Given the description of an element on the screen output the (x, y) to click on. 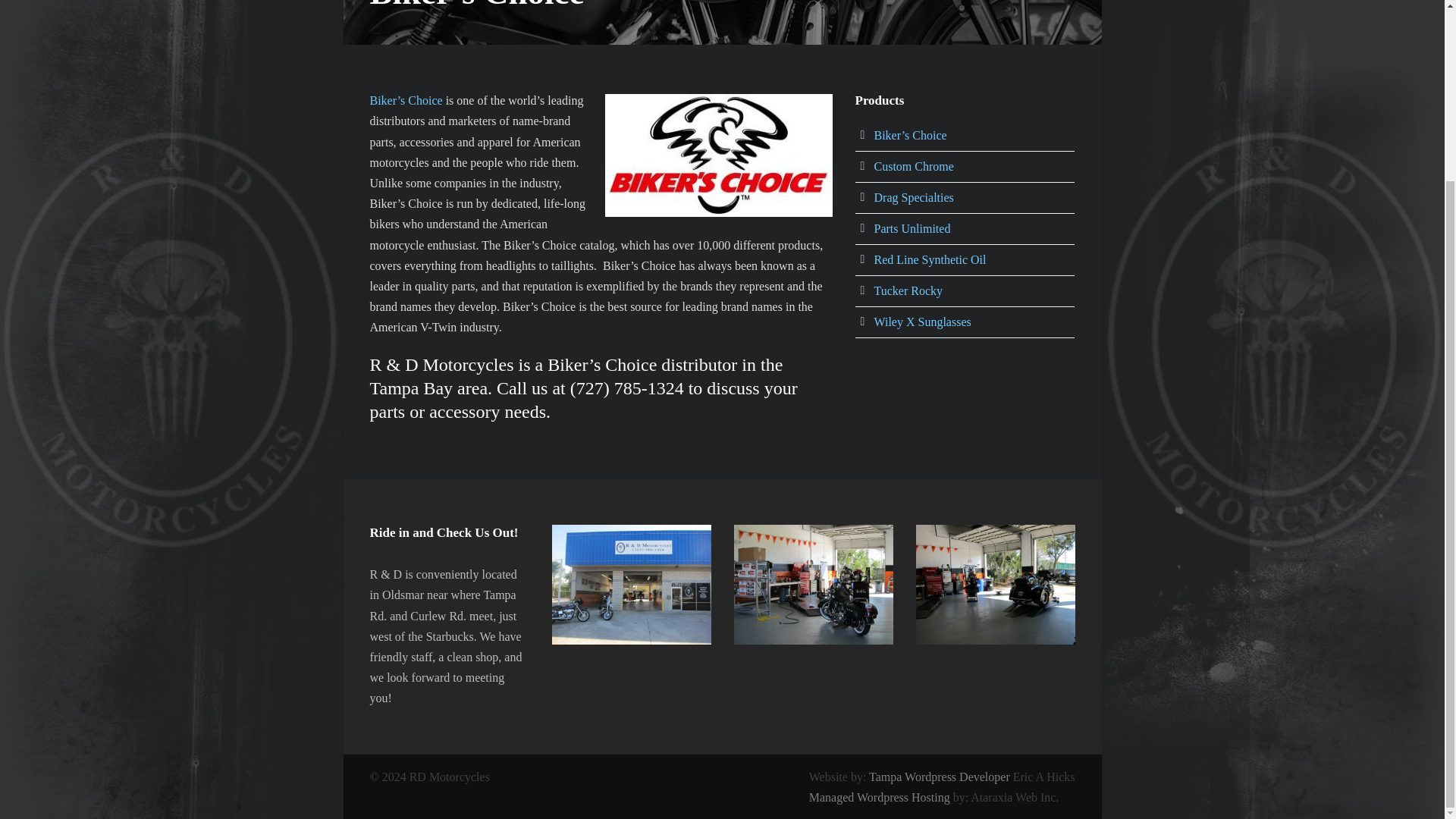
Wiley X Sunglasses (922, 321)
Red Line Synthetic Oil (929, 259)
Custom Chrome (913, 165)
Parts Unlimited (911, 228)
Tucker Rocky (907, 290)
Drag Specialties (913, 196)
Managed Wordpress Hosting (879, 797)
Tampa Wordpress Developer (939, 776)
